Given the description of an element on the screen output the (x, y) to click on. 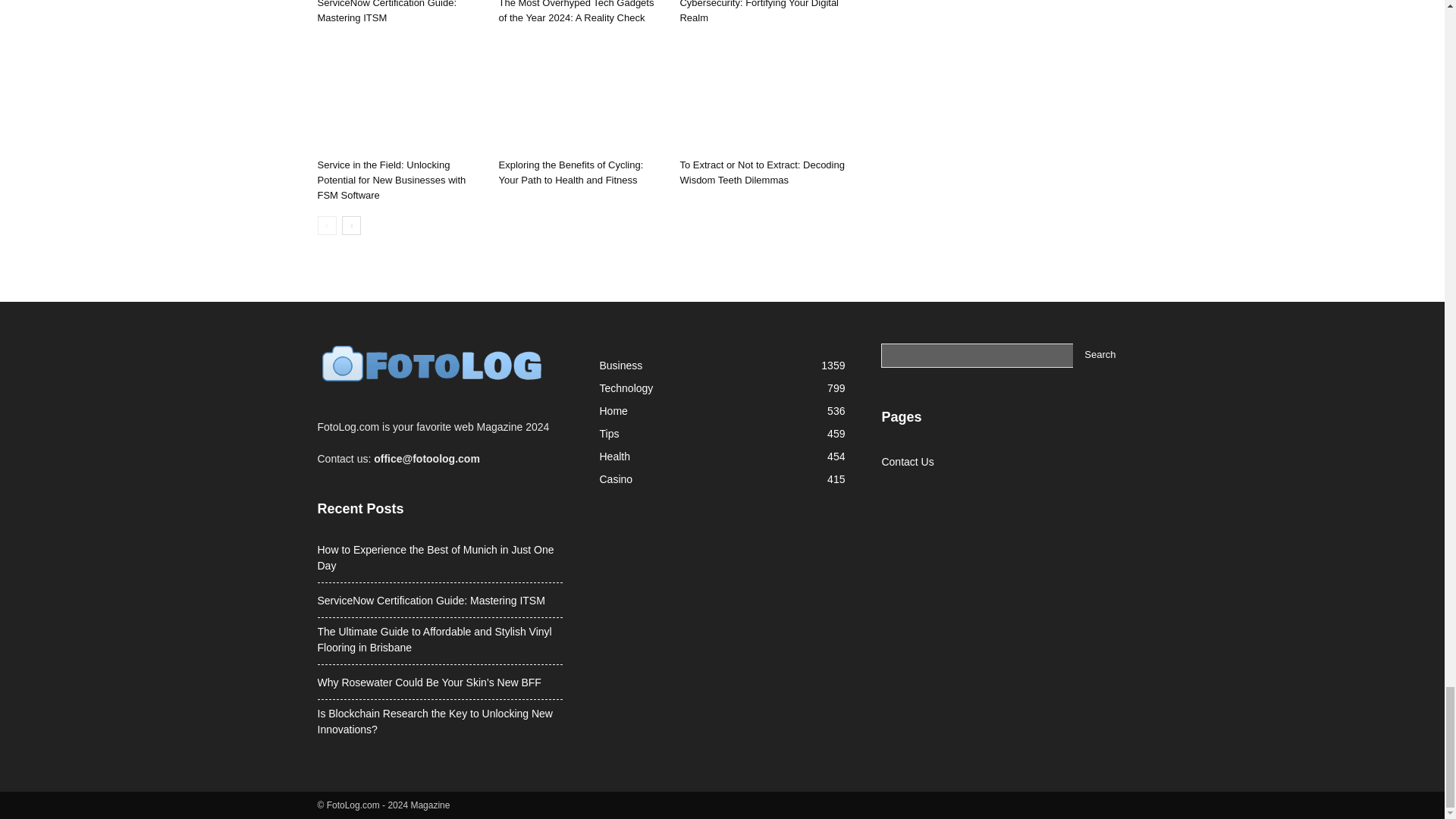
Cybersecurity: Fortifying Your Digital Realm (758, 11)
Search (1099, 355)
ServiceNow Certification Guide: Mastering ITSM (387, 11)
